Given the description of an element on the screen output the (x, y) to click on. 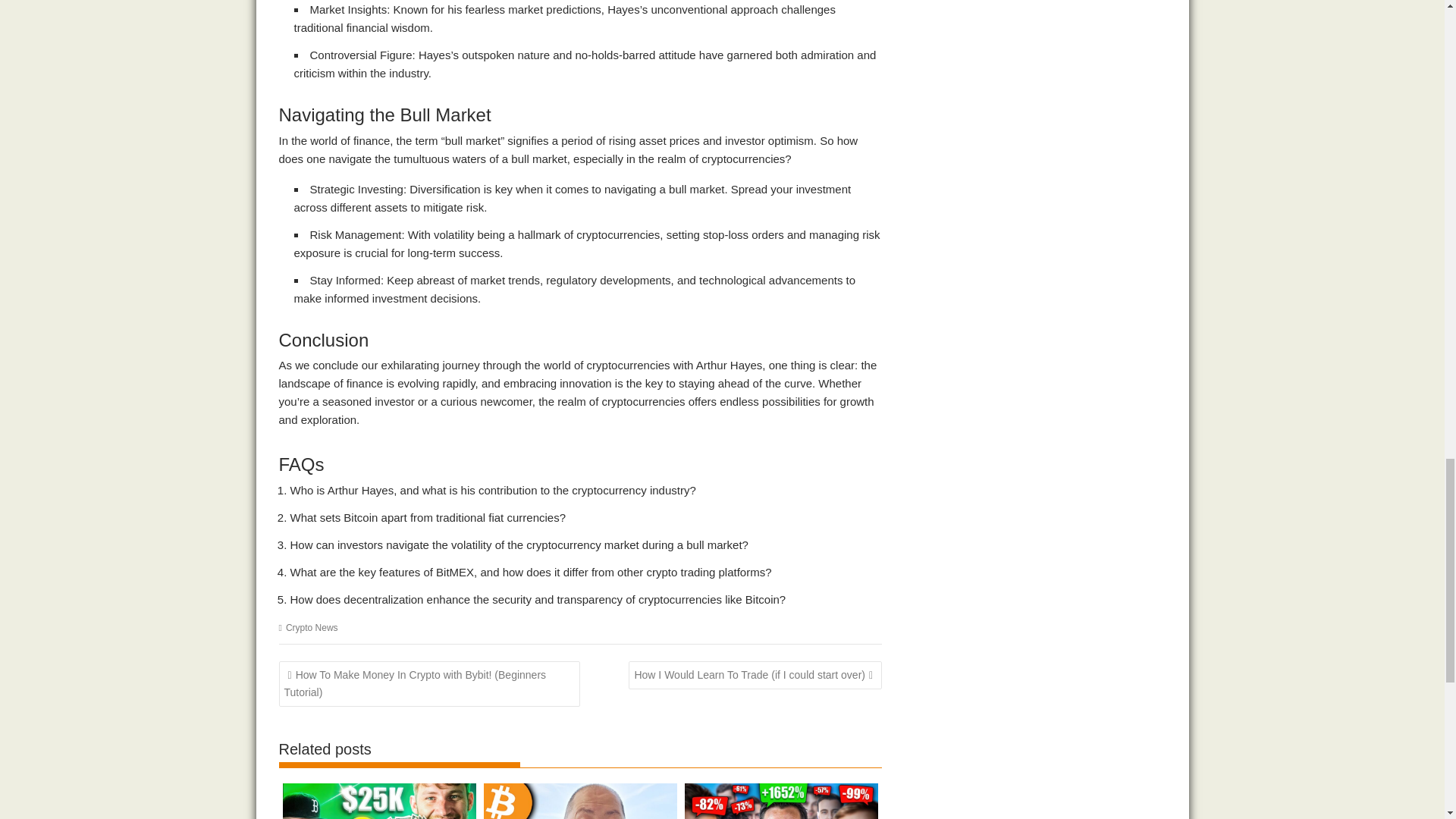
Crypto News (311, 627)
